Given the description of an element on the screen output the (x, y) to click on. 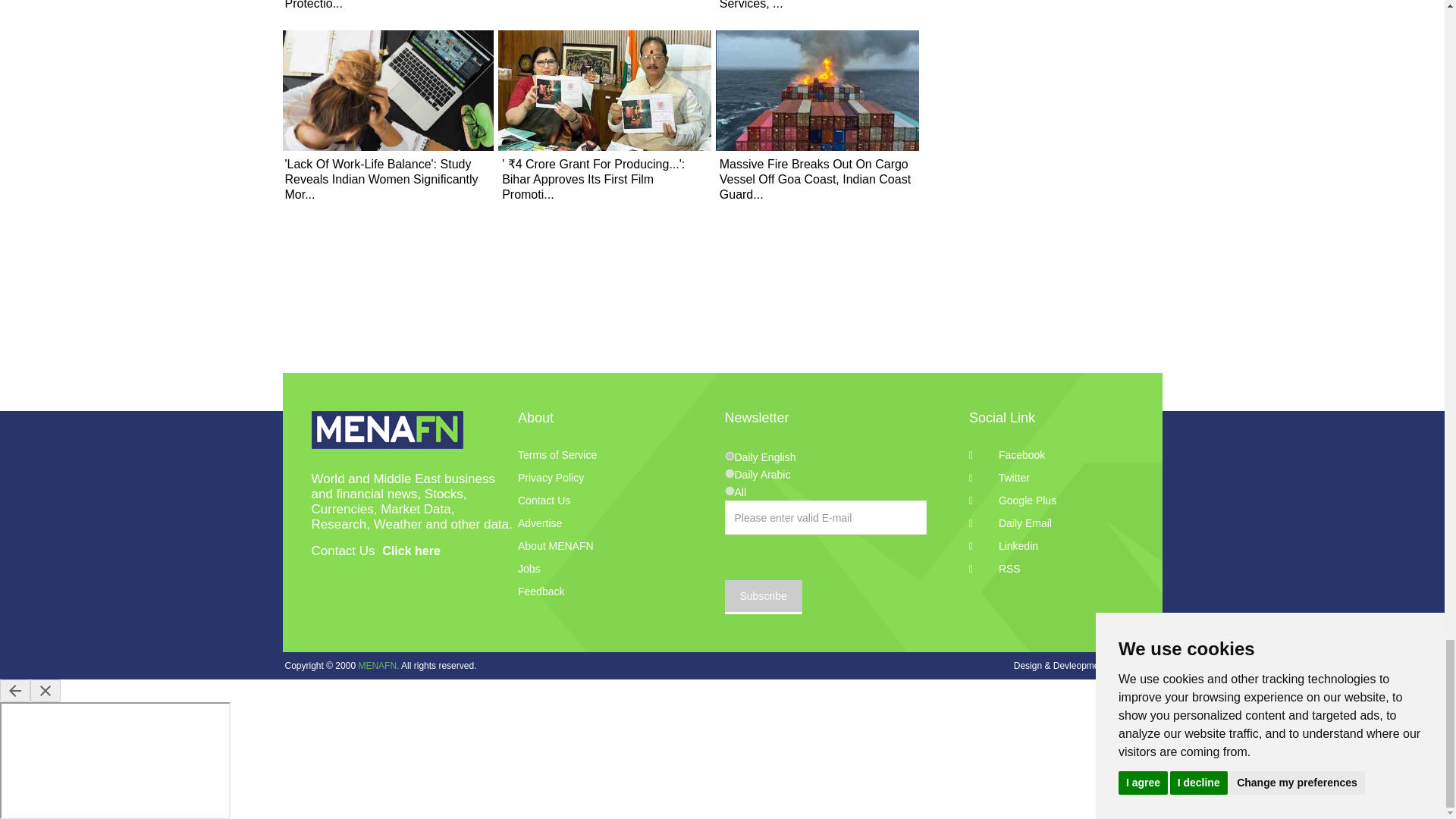
Subscribe (763, 596)
